Given the description of an element on the screen output the (x, y) to click on. 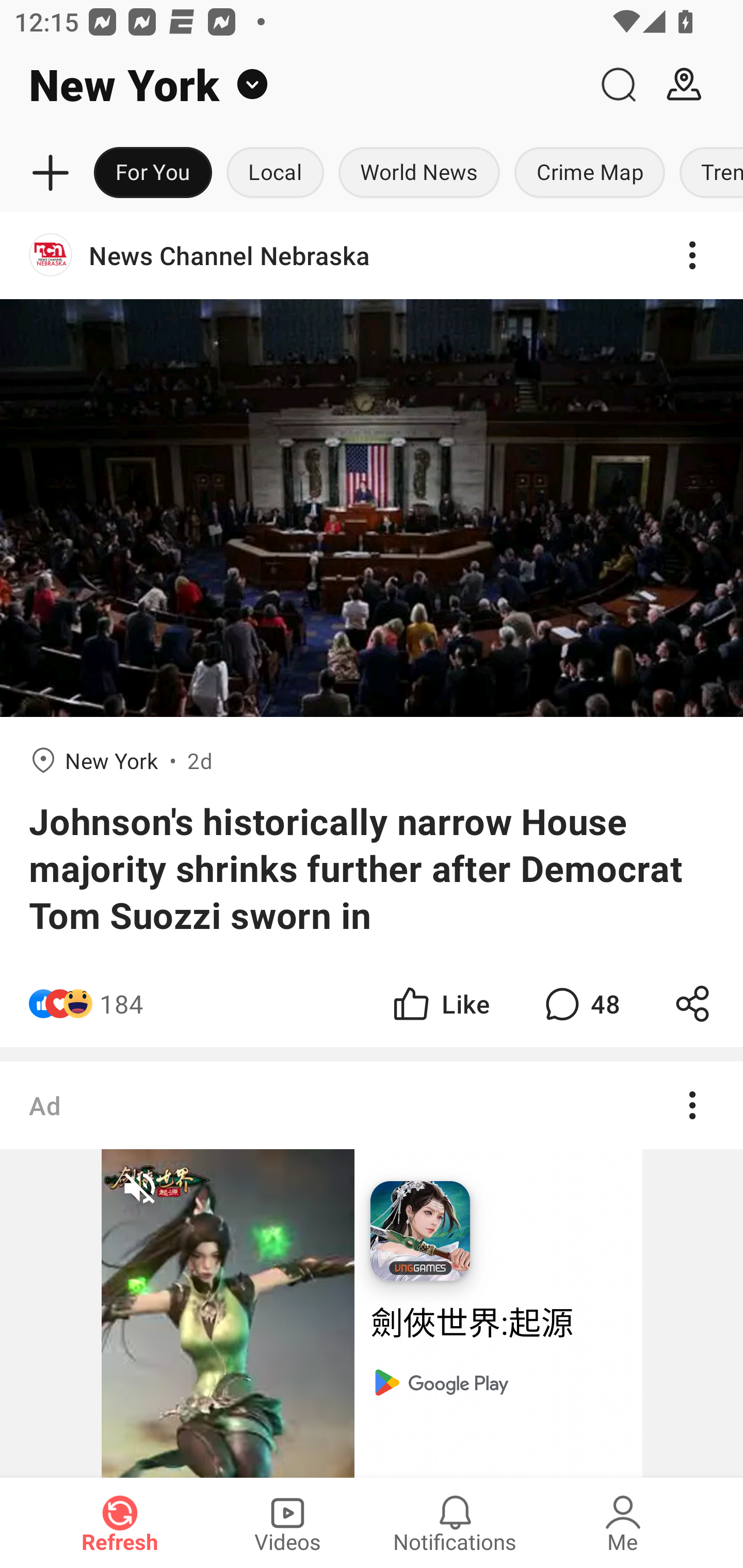
New York (292, 84)
For You (152, 172)
Local (275, 172)
World News (419, 172)
Crime Map (589, 172)
News Channel Nebraska (371, 255)
184 (121, 1003)
Like (439, 1003)
48 (579, 1003)
劍俠世界:起源 (498, 1324)
Videos (287, 1522)
Notifications (455, 1522)
Me (622, 1522)
